Given the description of an element on the screen output the (x, y) to click on. 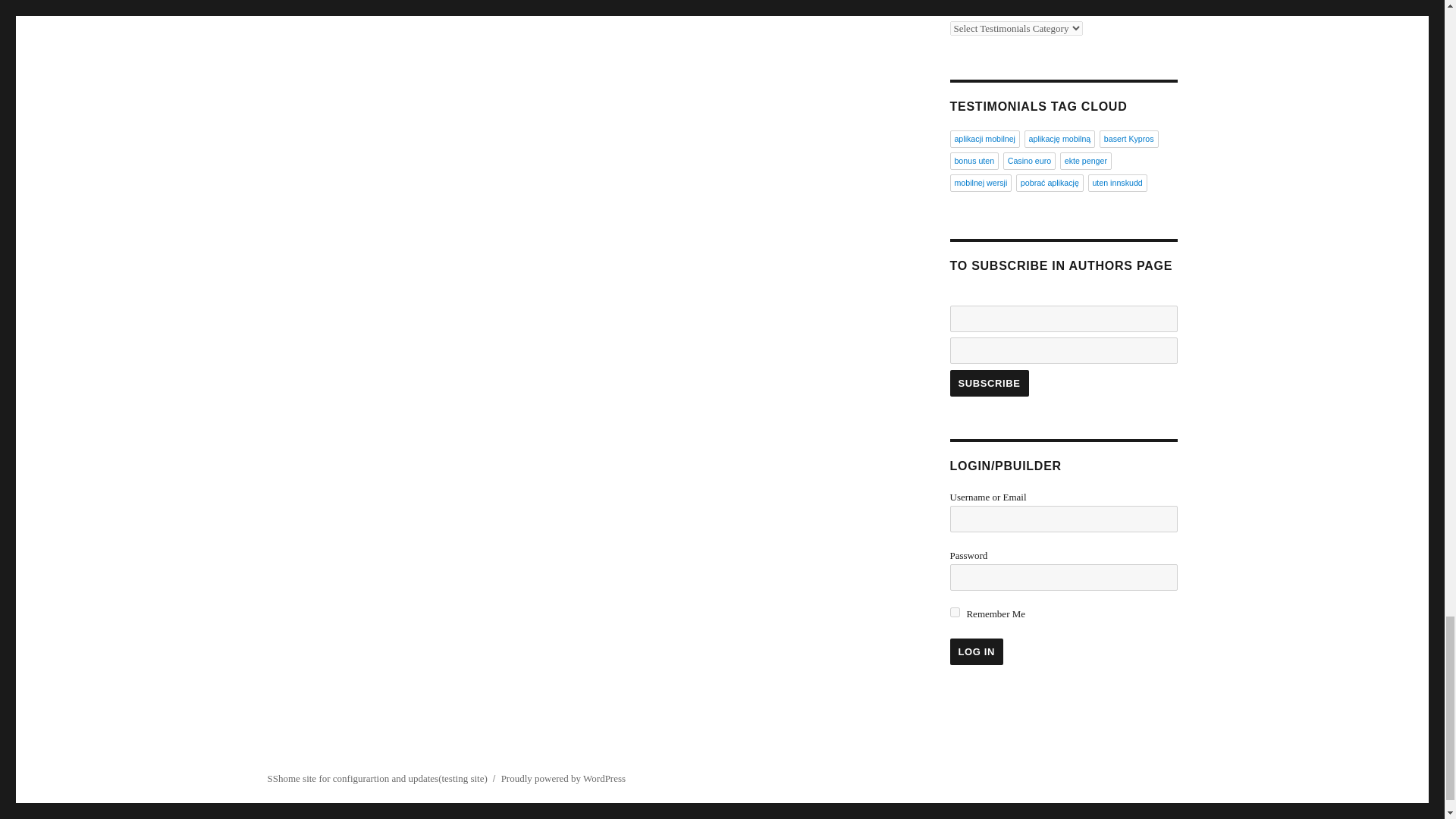
forever (954, 612)
Log In (976, 651)
Subscribe (988, 383)
